Given the description of an element on the screen output the (x, y) to click on. 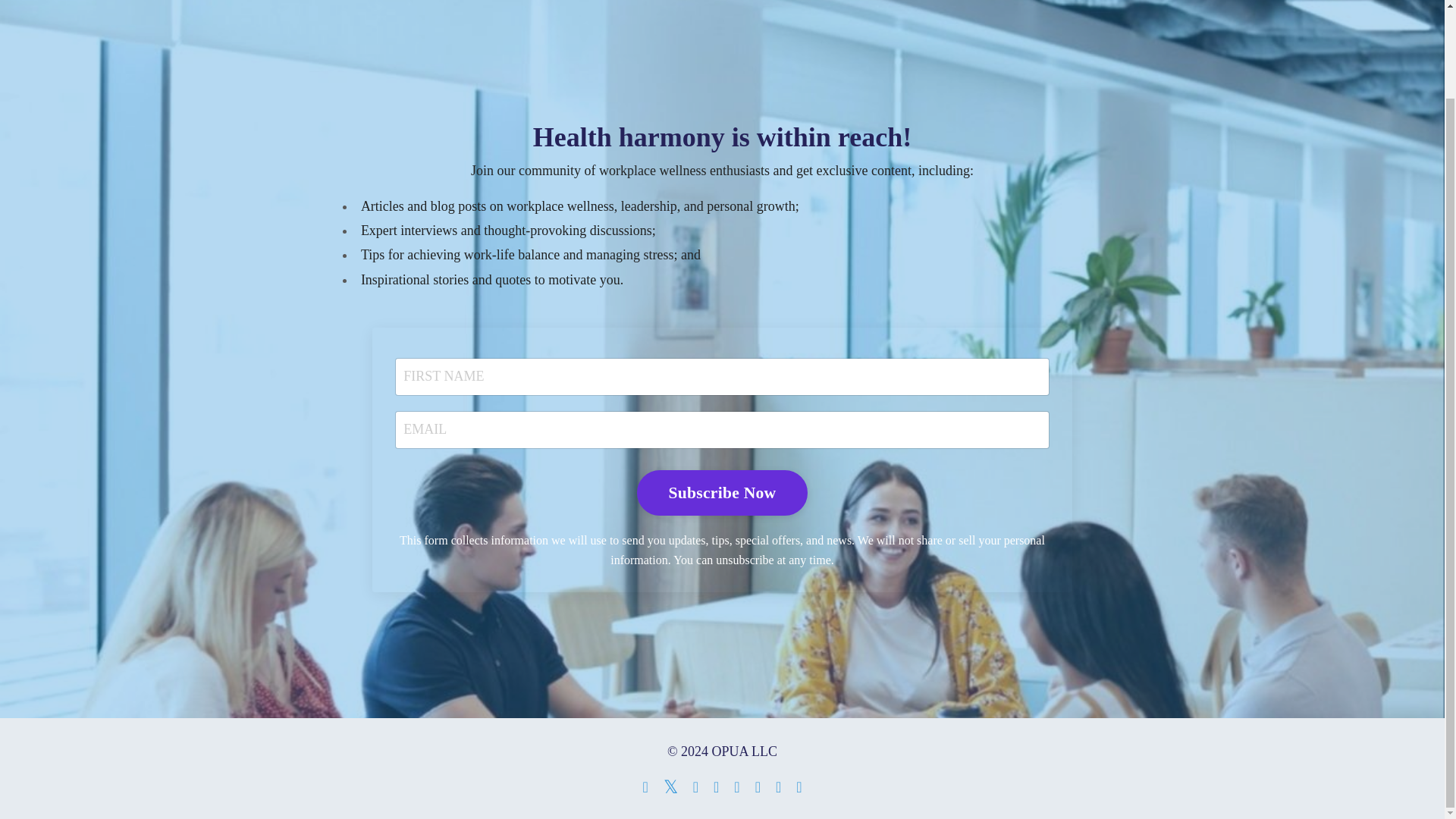
Subscribe Now (722, 492)
